Given the description of an element on the screen output the (x, y) to click on. 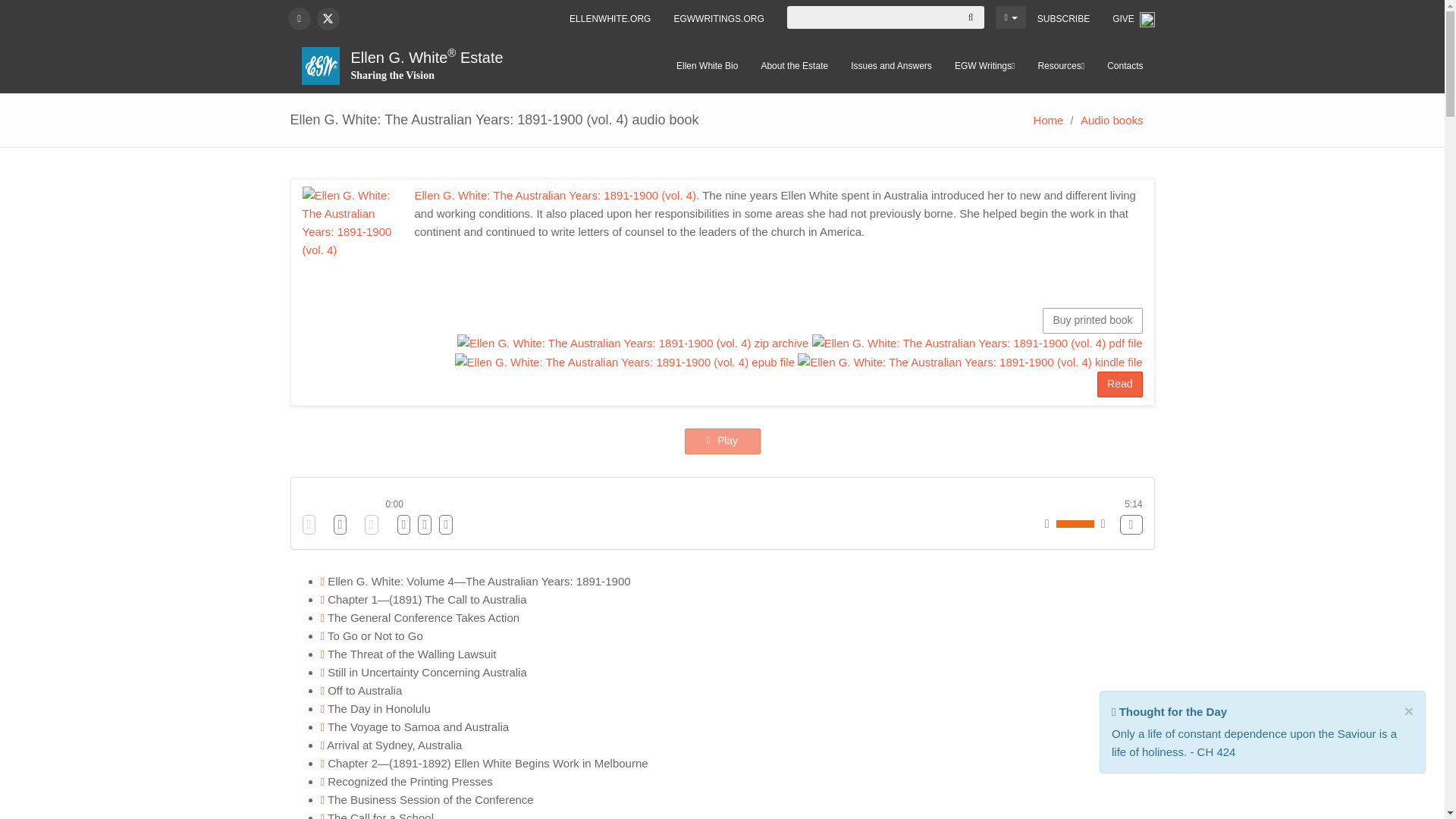
Mute (1130, 524)
EGW Writings (984, 65)
ELLENWHITE.ORG (609, 18)
SUBSCRIBE (1063, 18)
Ellen White Bio (707, 65)
Share (1169, 711)
About the Estate (794, 65)
Issues and Answers (891, 65)
GIVE   (1133, 19)
EGWWRITINGS.ORG (718, 18)
